Given the description of an element on the screen output the (x, y) to click on. 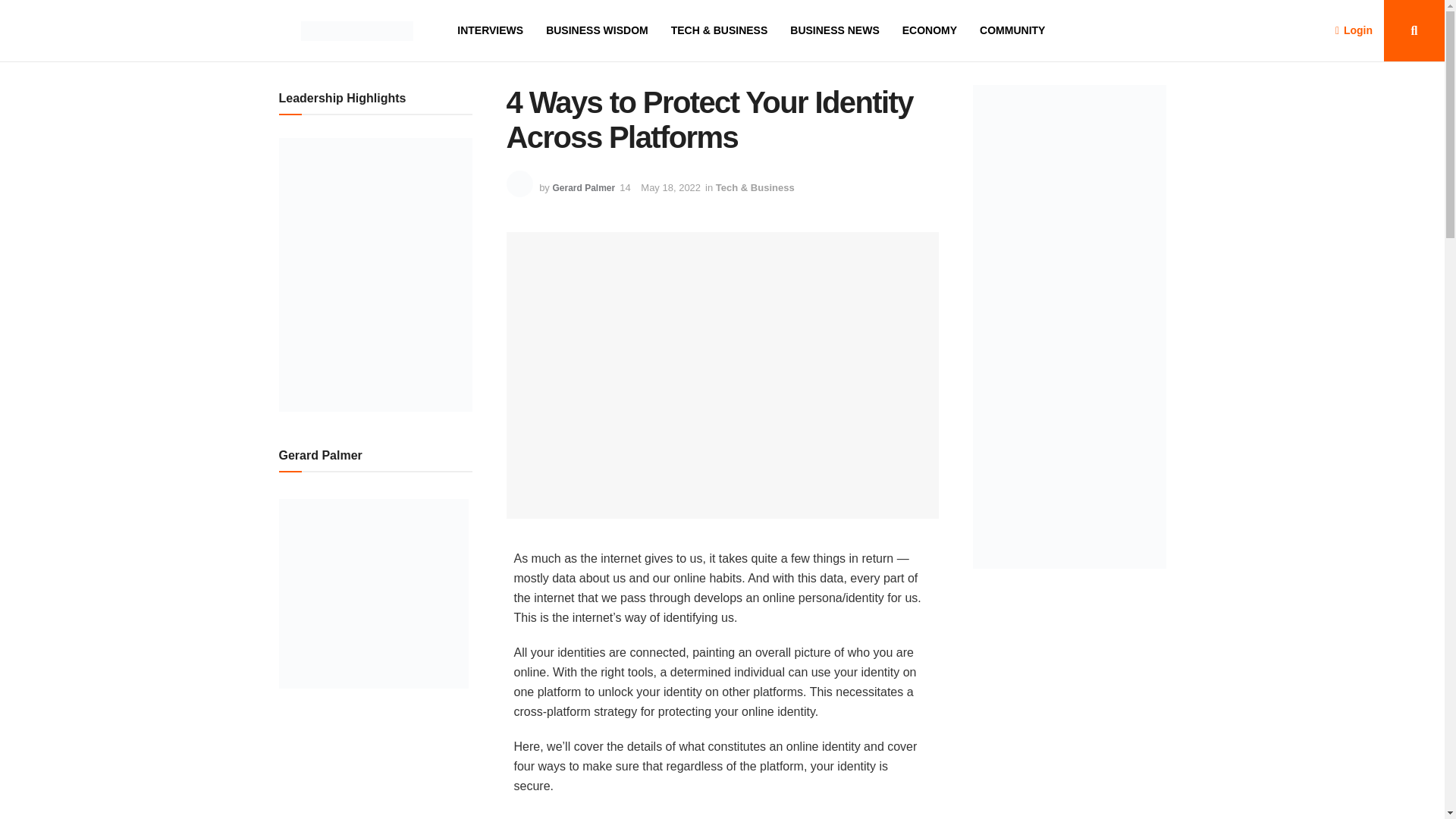
ECONOMY (929, 30)
May 18, 2022 (670, 187)
INTERVIEWS (489, 30)
BUSINESS NEWS (834, 30)
BUSINESS WISDOM (596, 30)
Gerard Palmer (582, 187)
COMMUNITY (1012, 30)
